Given the description of an element on the screen output the (x, y) to click on. 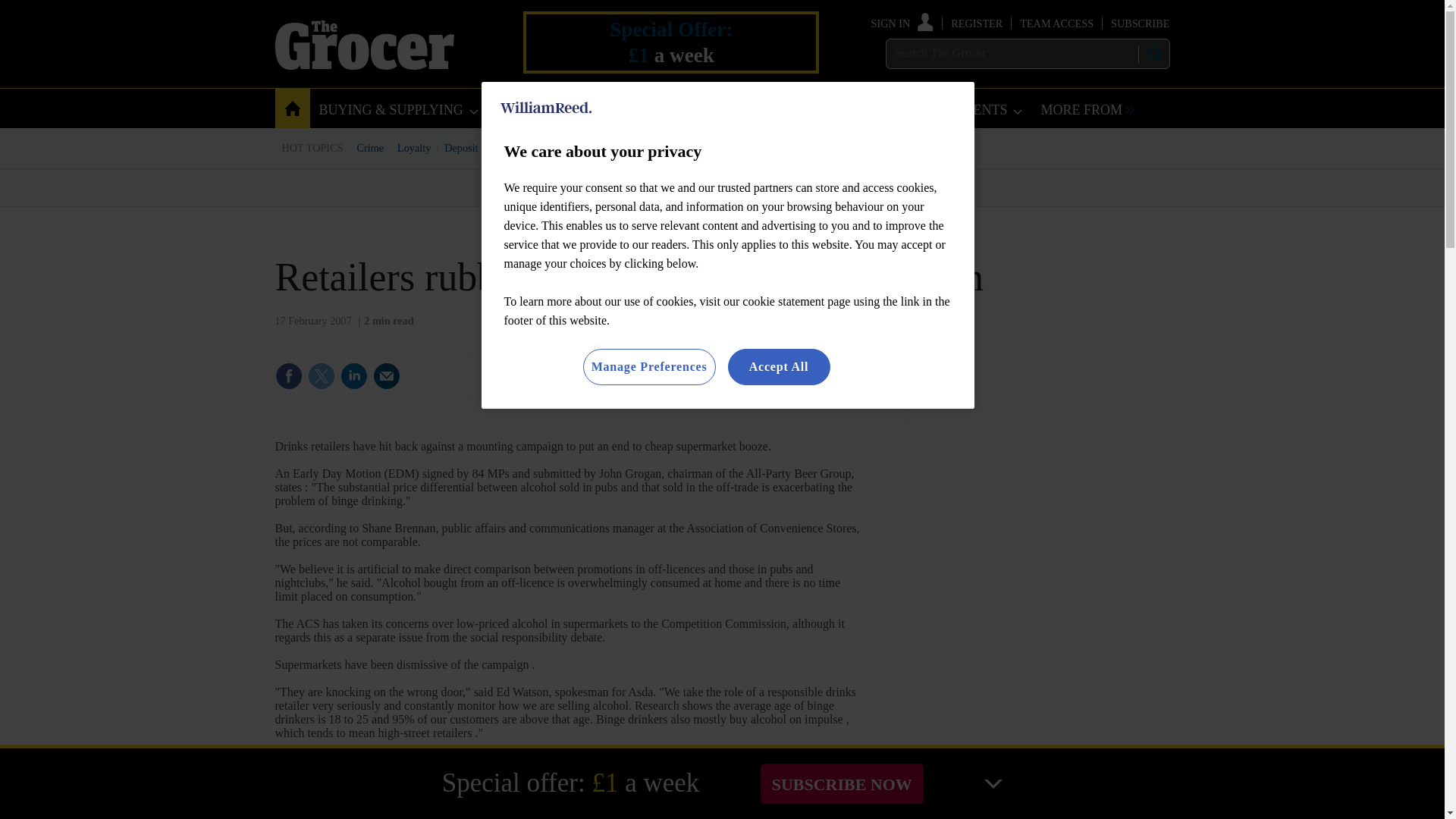
KVI price tracker (602, 147)
Share this on Twitter (320, 375)
Share this on Linked in (352, 375)
Email this article (386, 375)
Cost of Living Crisis (699, 147)
SIGN IN (902, 23)
No comments (812, 385)
REGISTER (976, 23)
SUBSCRIBE NOW (841, 783)
SUBSCRIBE (1139, 23)
